Given the description of an element on the screen output the (x, y) to click on. 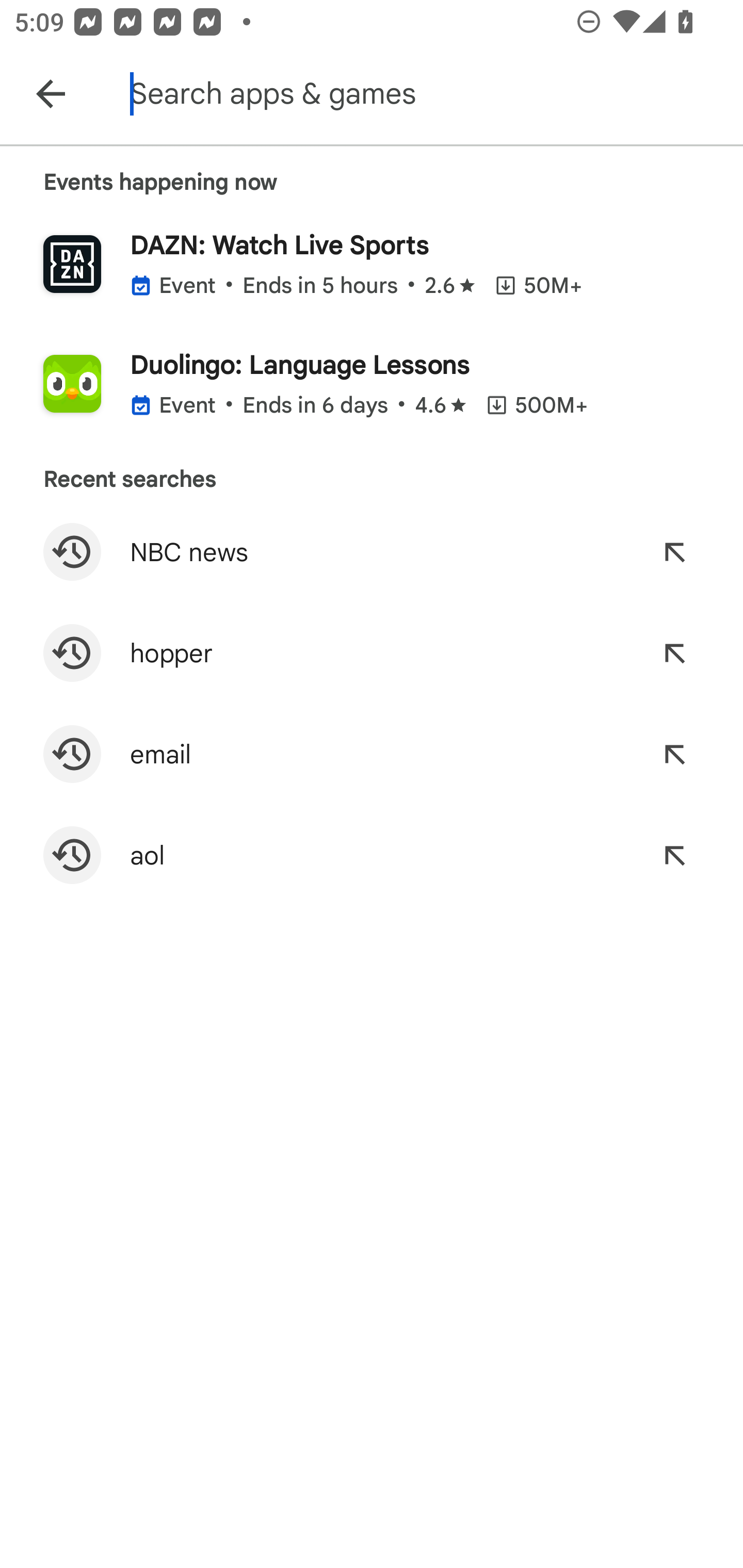
Navigate up (50, 93)
Search apps & games (432, 93)
Search for "NBC news"  Refine search to "NBC news" (371, 551)
Refine search to "NBC news" (673, 551)
Search for "hopper"  Refine search to "hopper" (371, 653)
Refine search to "hopper" (673, 653)
Search for "email"  Refine search to "email" (371, 754)
Refine search to "email" (673, 754)
Search for "aol"  Refine search to "aol" (371, 855)
Refine search to "aol" (673, 855)
